Given the description of an element on the screen output the (x, y) to click on. 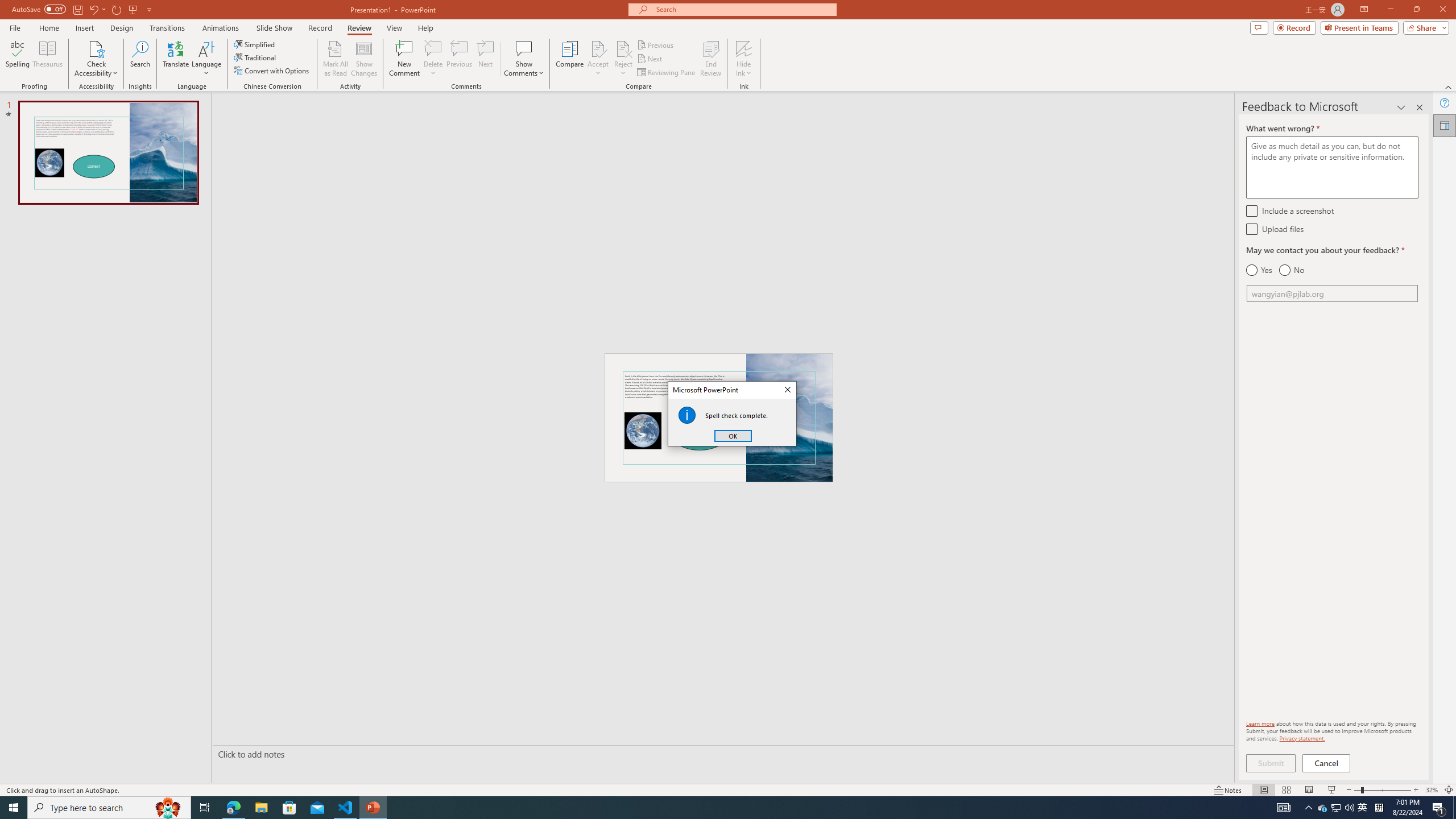
Feedback to Microsoft (1444, 125)
End Review (1322, 807)
Reviewing Pane (710, 58)
Show Comments (666, 72)
Accept Change (524, 48)
Delete (598, 48)
Microsoft Edge - 1 running window (432, 58)
